Given the description of an element on the screen output the (x, y) to click on. 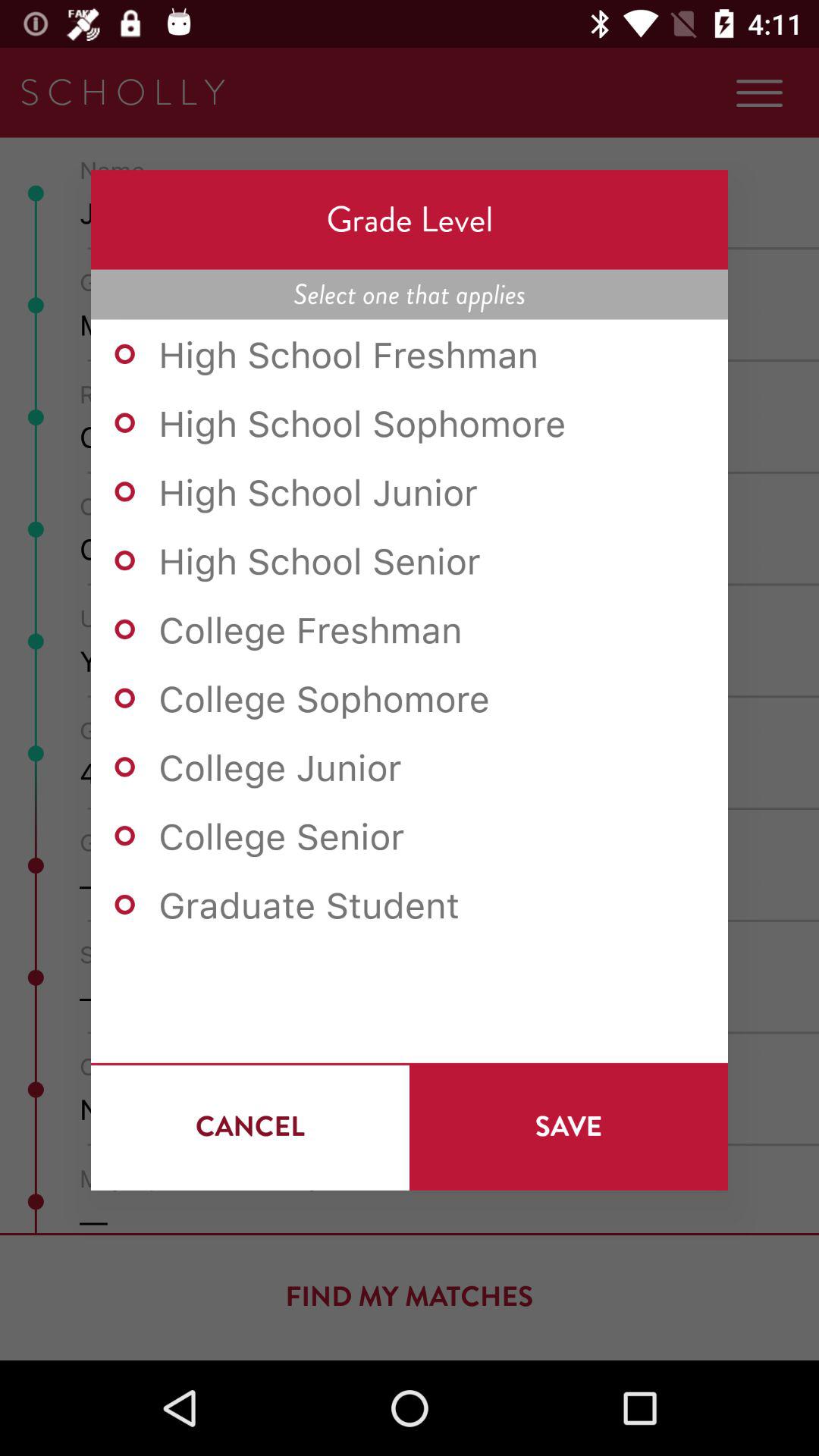
launch the item below graduate student item (568, 1126)
